Given the description of an element on the screen output the (x, y) to click on. 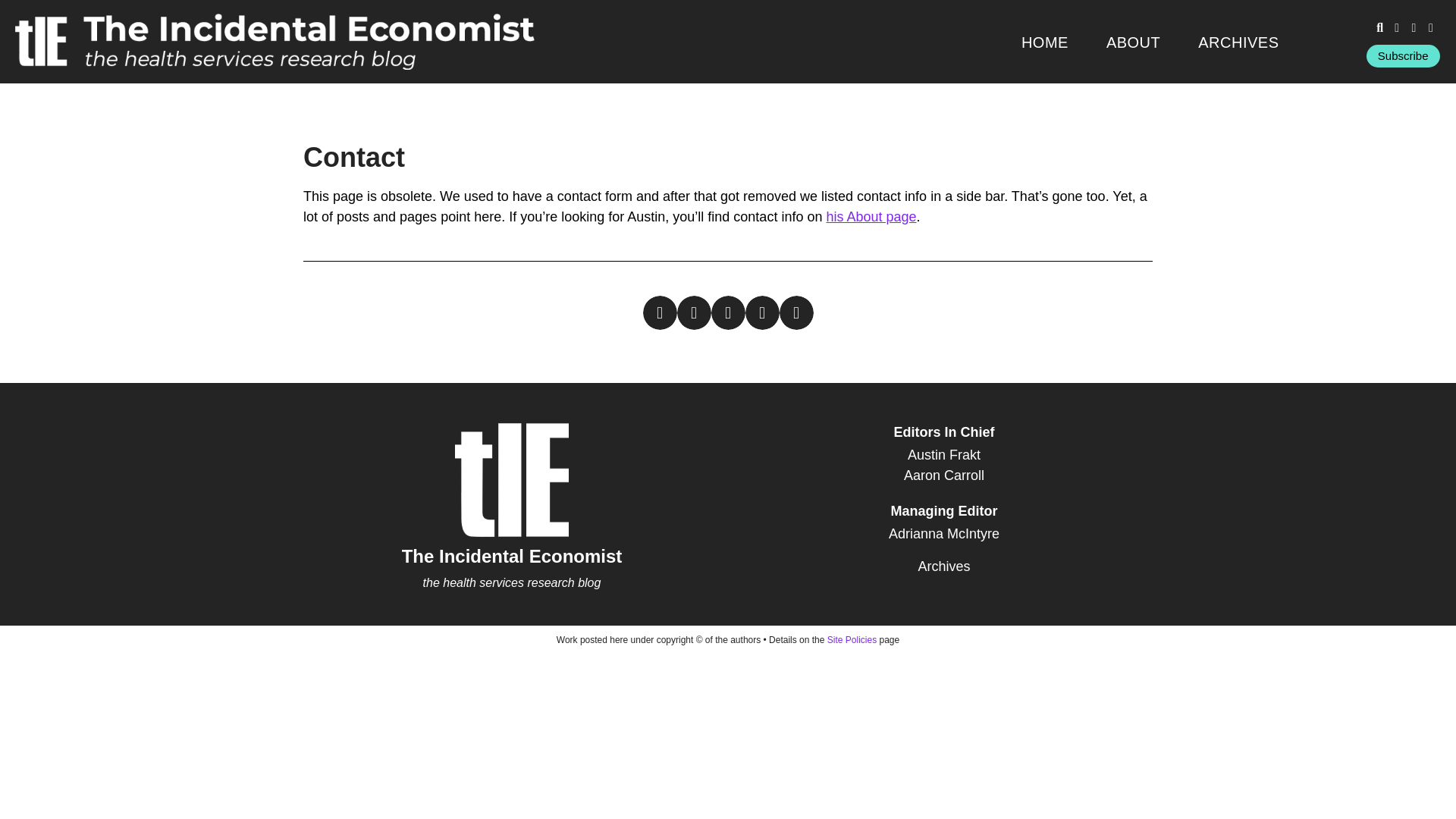
Archives (944, 566)
Austin Frakt (944, 455)
HOME (1044, 41)
ABOUT (1133, 41)
ARCHIVES (1238, 41)
Subscribe (1403, 56)
Aaron Carroll (944, 476)
Adrianna McIntyre (944, 534)
Site Policies (851, 639)
his About page (870, 216)
